Given the description of an element on the screen output the (x, y) to click on. 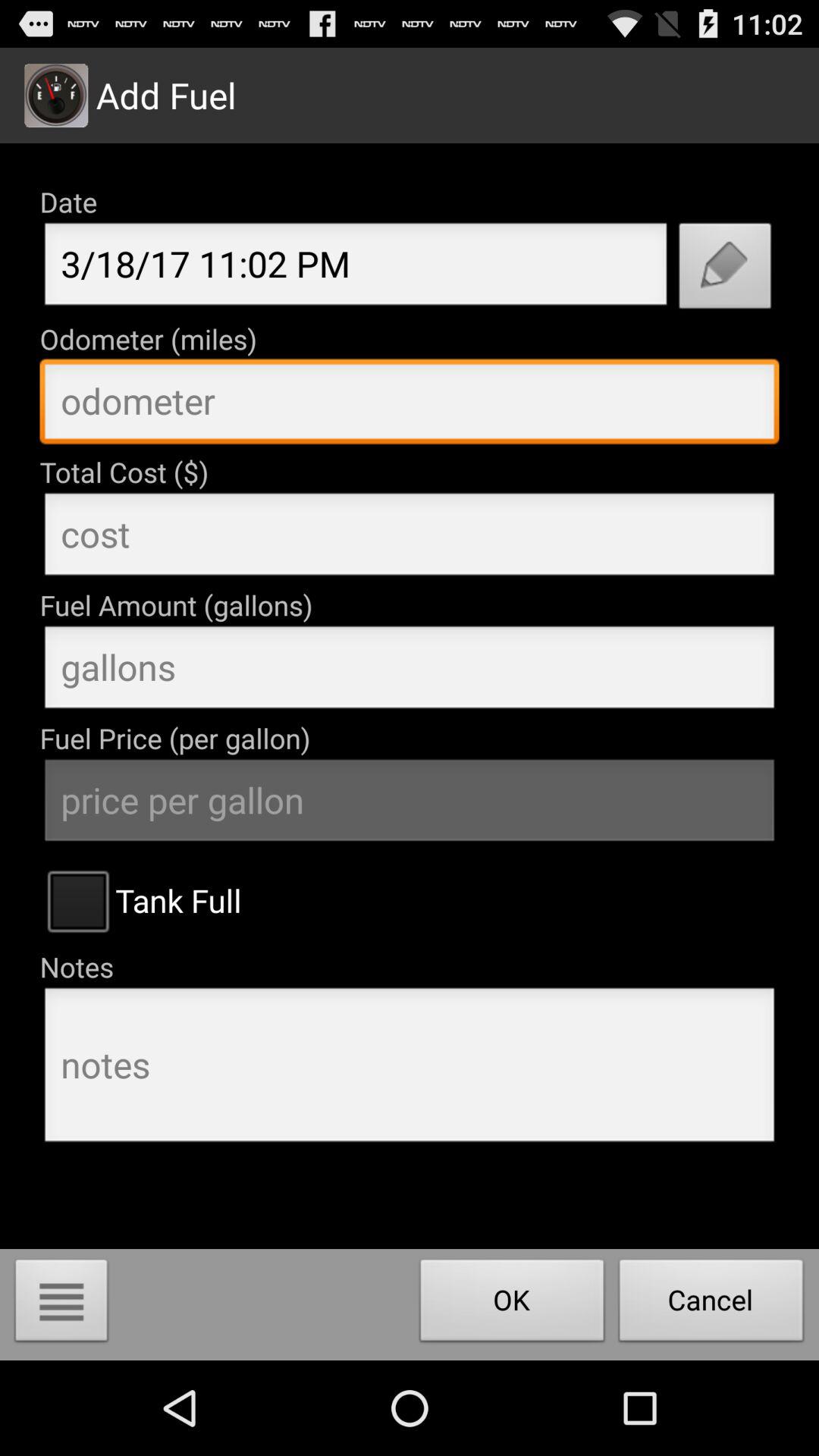
add notes (409, 1068)
